Given the description of an element on the screen output the (x, y) to click on. 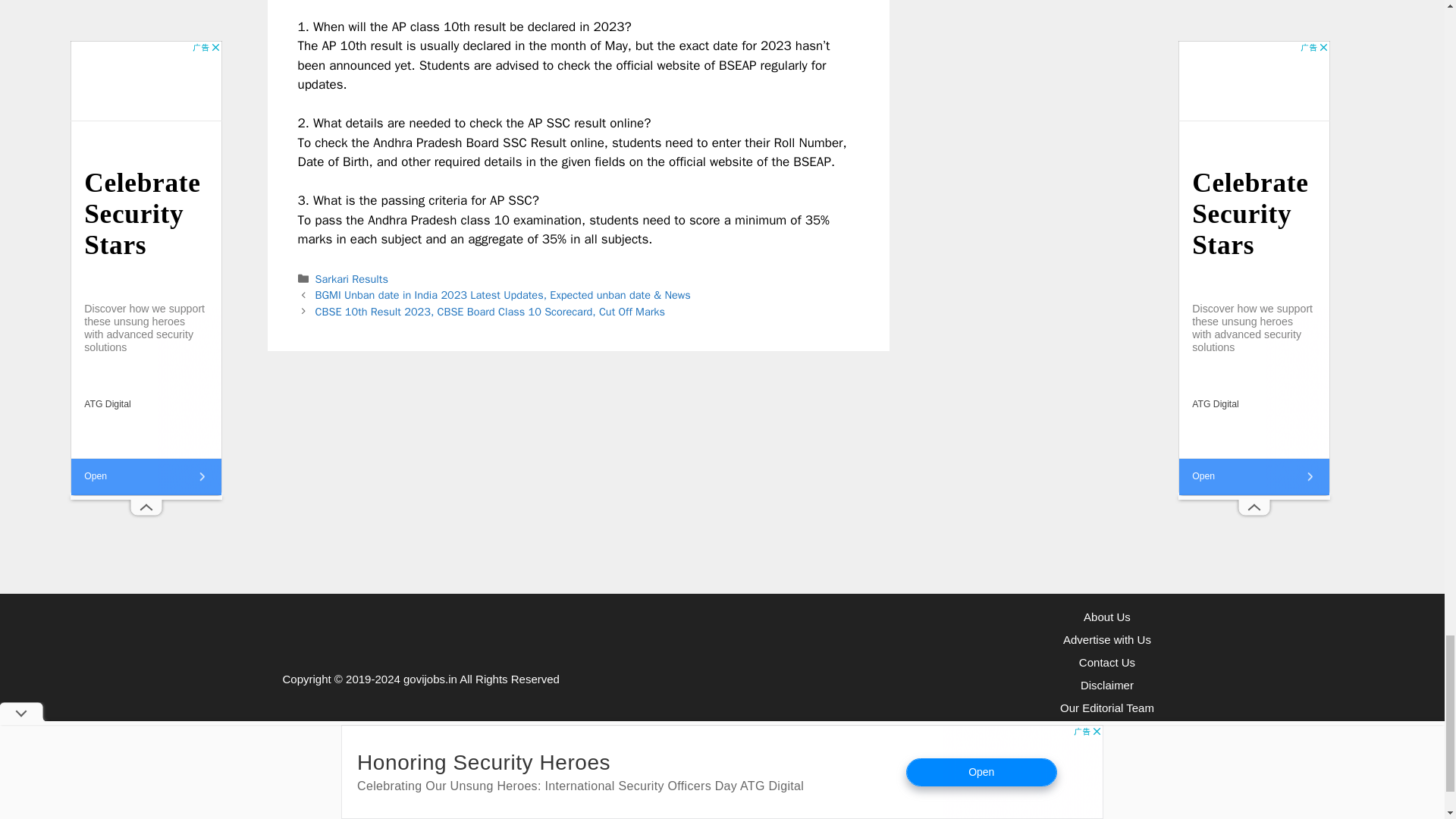
Contact Us (1106, 662)
Terms and Conditions (1106, 753)
Privacy Policy (1106, 730)
About Us (1107, 616)
Disclaimer (1107, 684)
Sarkari Results (351, 278)
govijobs.in (430, 678)
Advertise with Us (1106, 639)
Our Editorial Team (1106, 707)
